Given the description of an element on the screen output the (x, y) to click on. 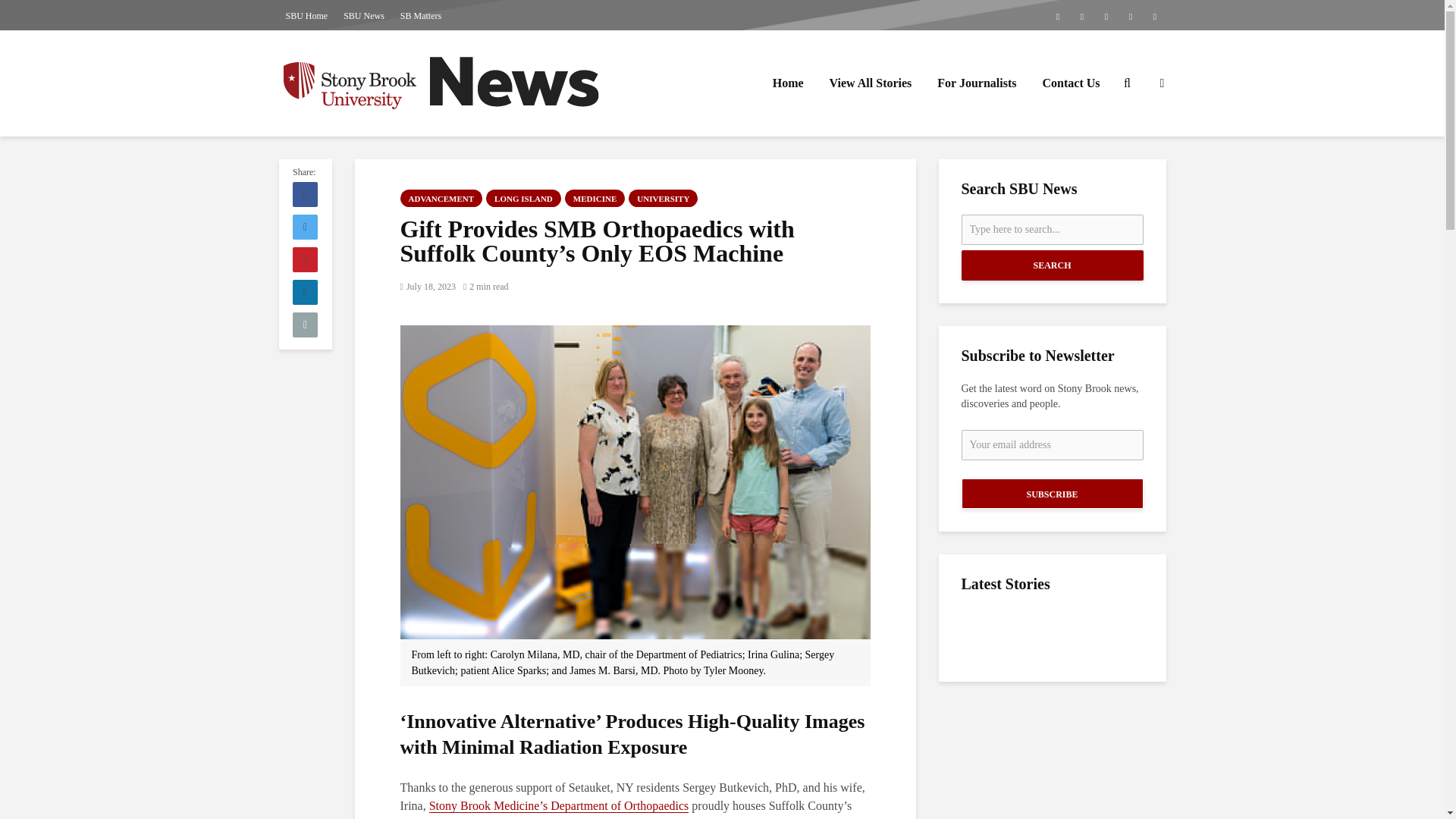
Subscribe (1051, 493)
For Journalists (976, 82)
View All Stories (870, 82)
SBU News (363, 15)
SBU Home (306, 15)
Contact Us (1071, 82)
Home (788, 82)
SB Matters (420, 15)
